Given the description of an element on the screen output the (x, y) to click on. 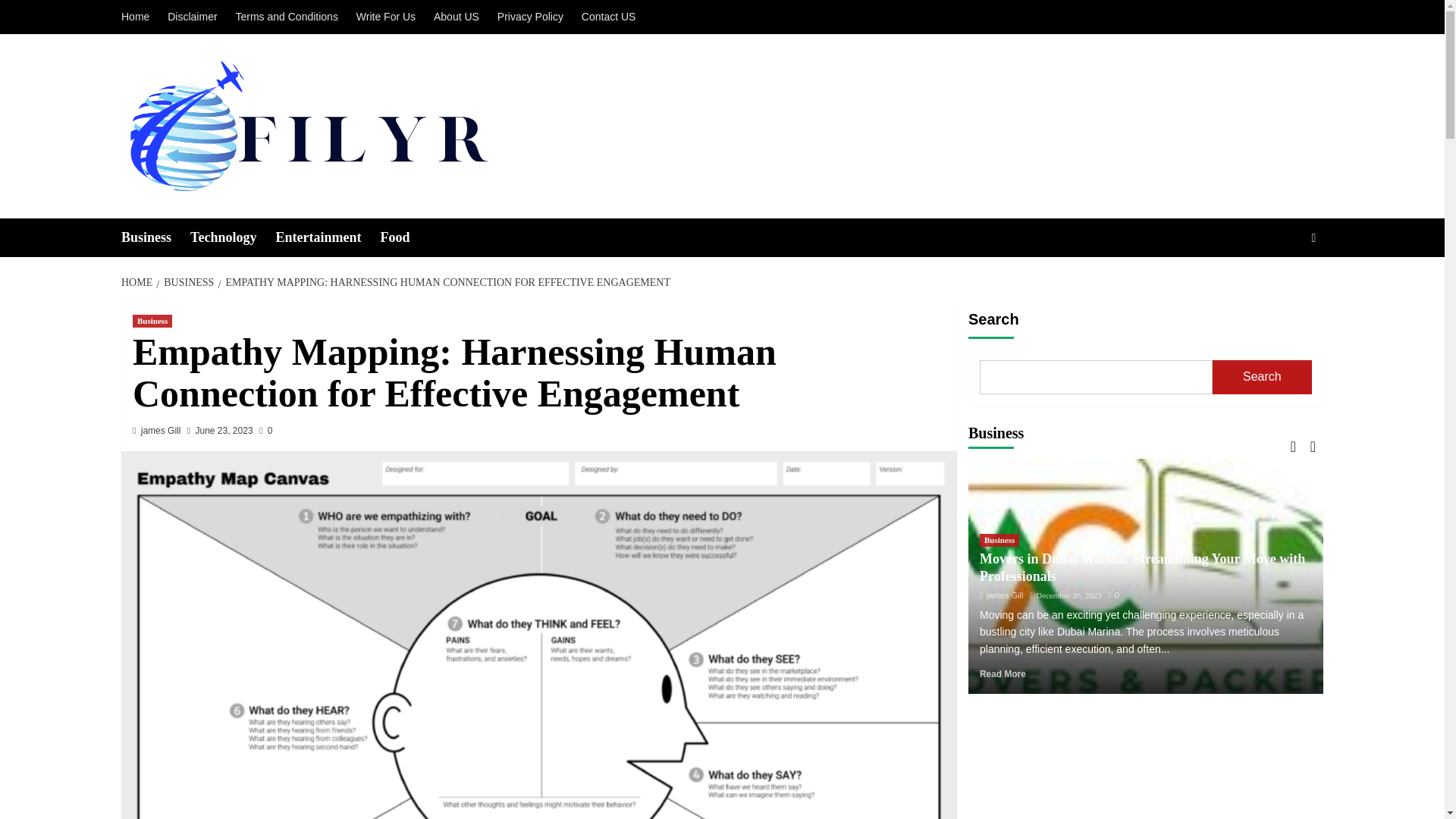
Home (138, 17)
Business (155, 237)
About US (456, 17)
Write For Us (386, 17)
Entertainment (327, 237)
Contact US (608, 17)
Search (1278, 283)
Technology (232, 237)
June 23, 2023 (224, 430)
Terms and Conditions (286, 17)
0 (265, 430)
james Gill (160, 430)
Privacy Policy (529, 17)
Disclaimer (192, 17)
